Given the description of an element on the screen output the (x, y) to click on. 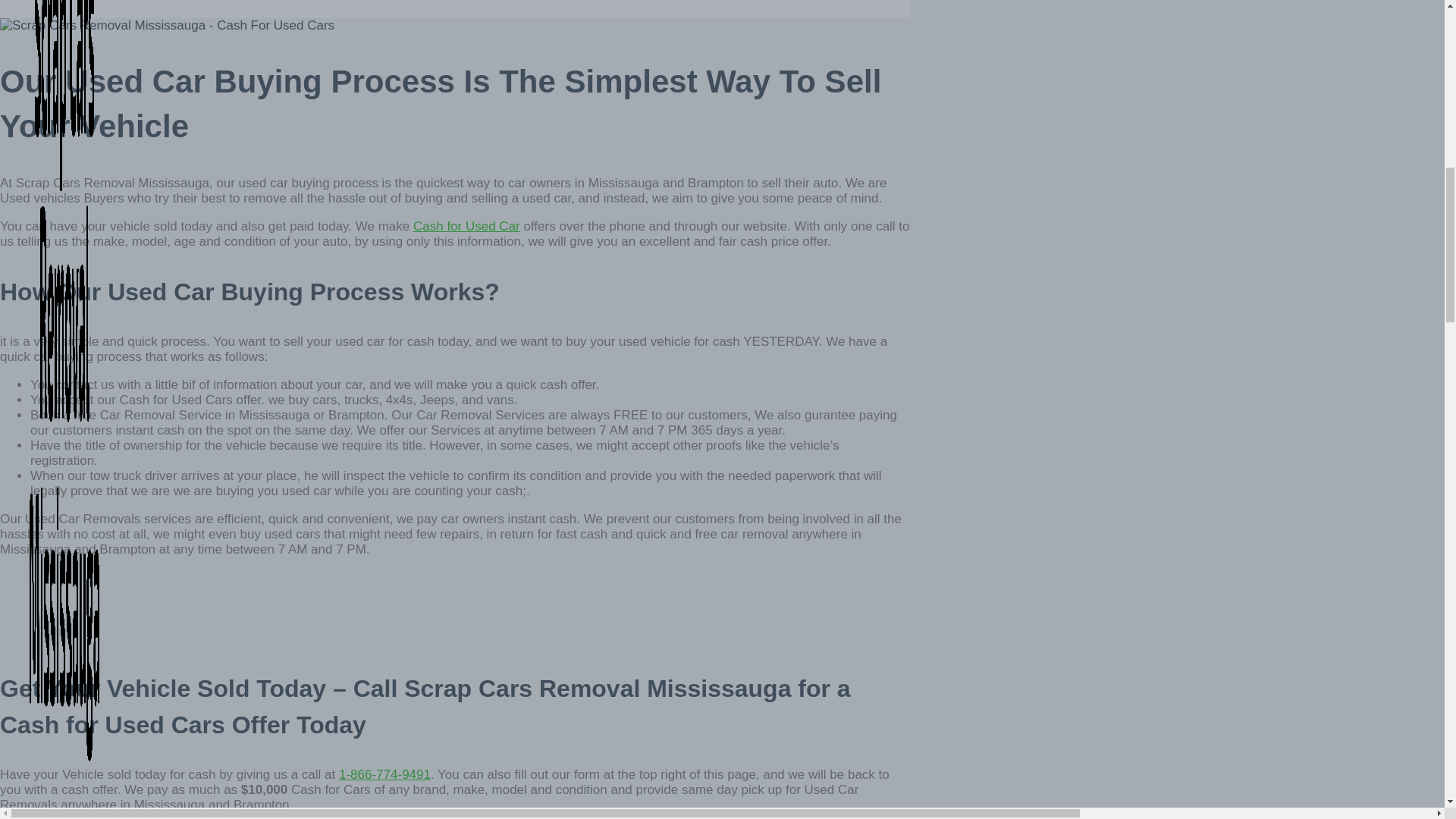
1-866-774-9491 (384, 774)
Cash for Used Car (466, 226)
